Given the description of an element on the screen output the (x, y) to click on. 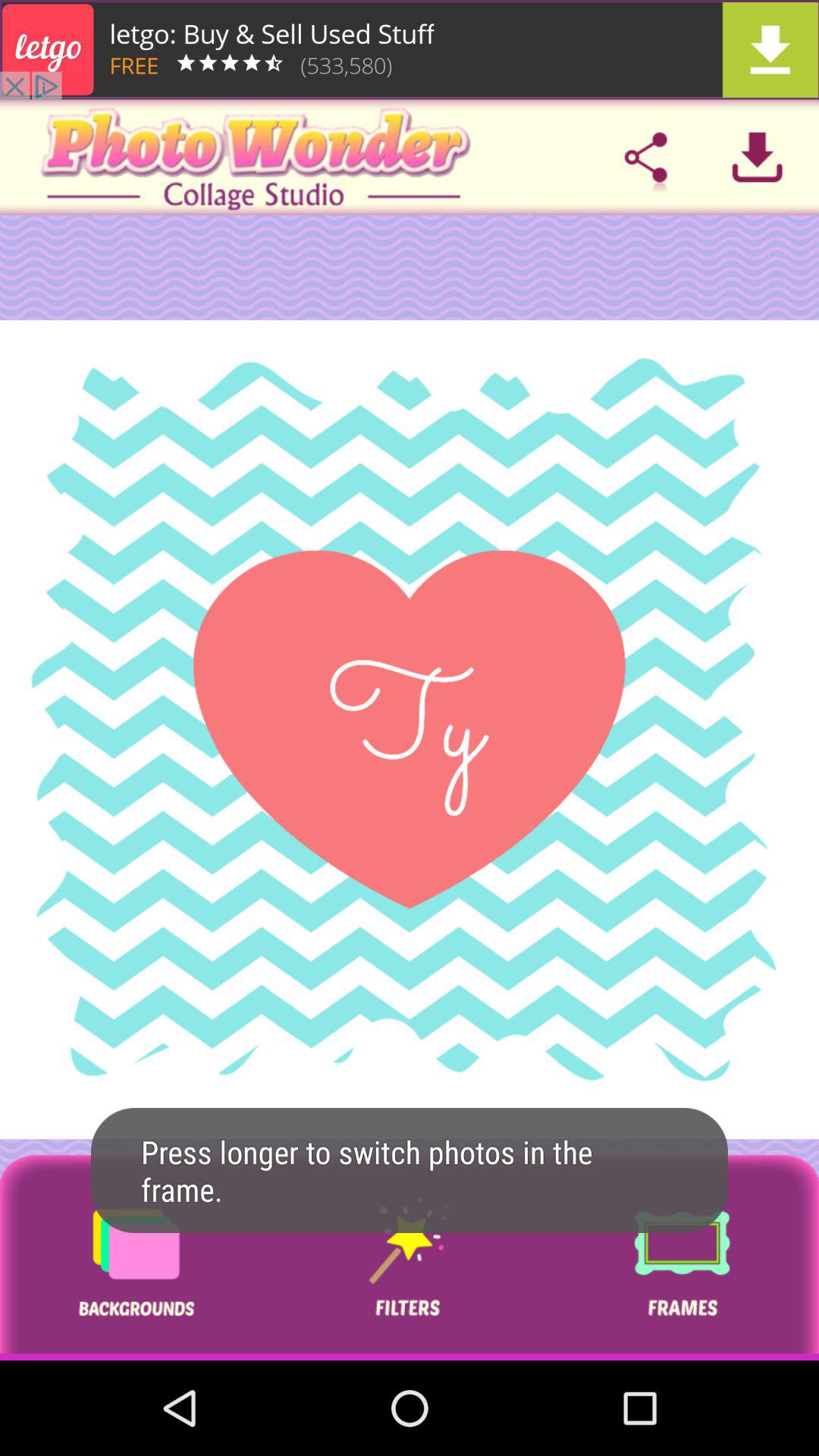
share the pic (645, 157)
